Given the description of an element on the screen output the (x, y) to click on. 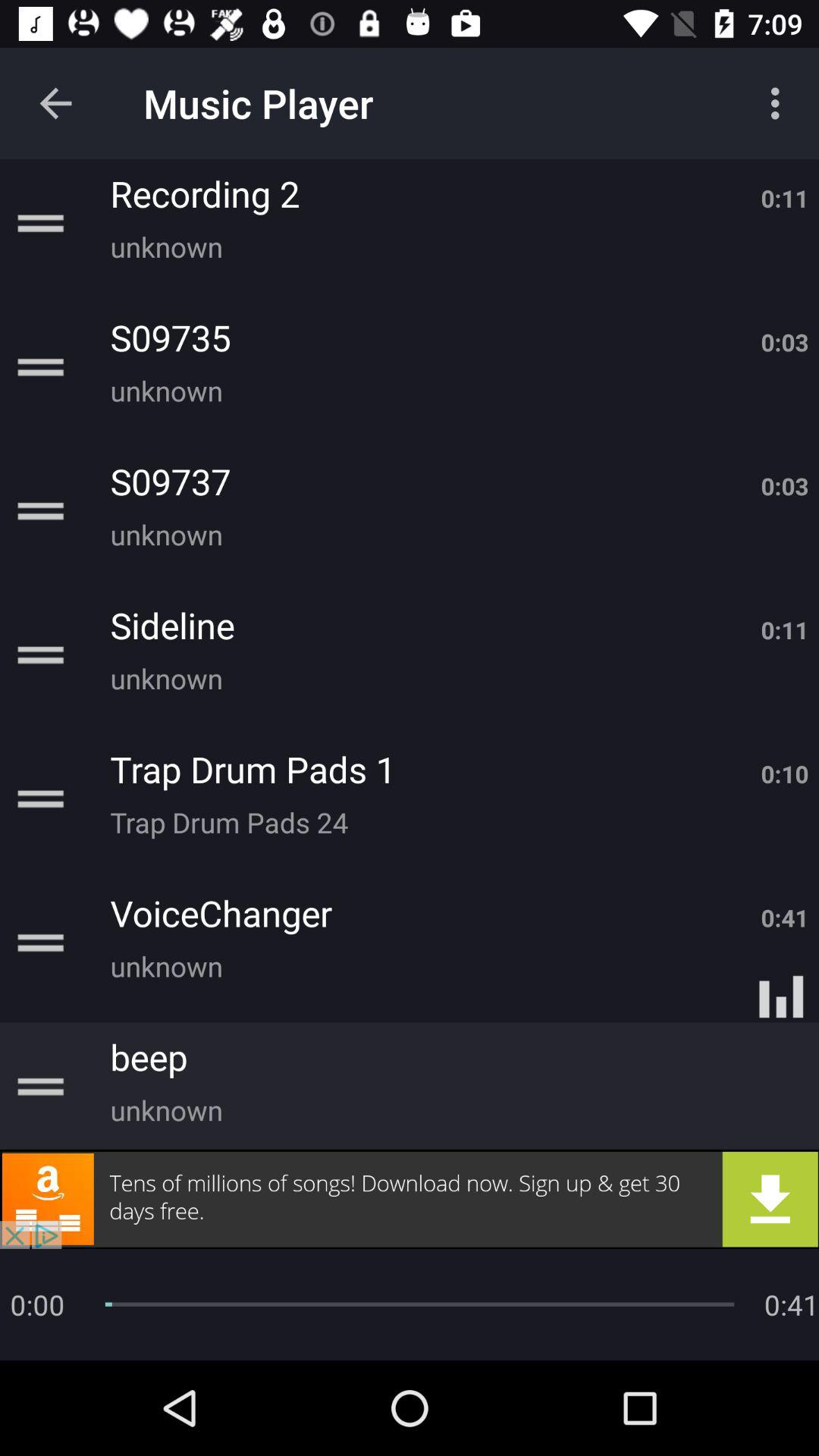
advertisement button (409, 1198)
